Given the description of an element on the screen output the (x, y) to click on. 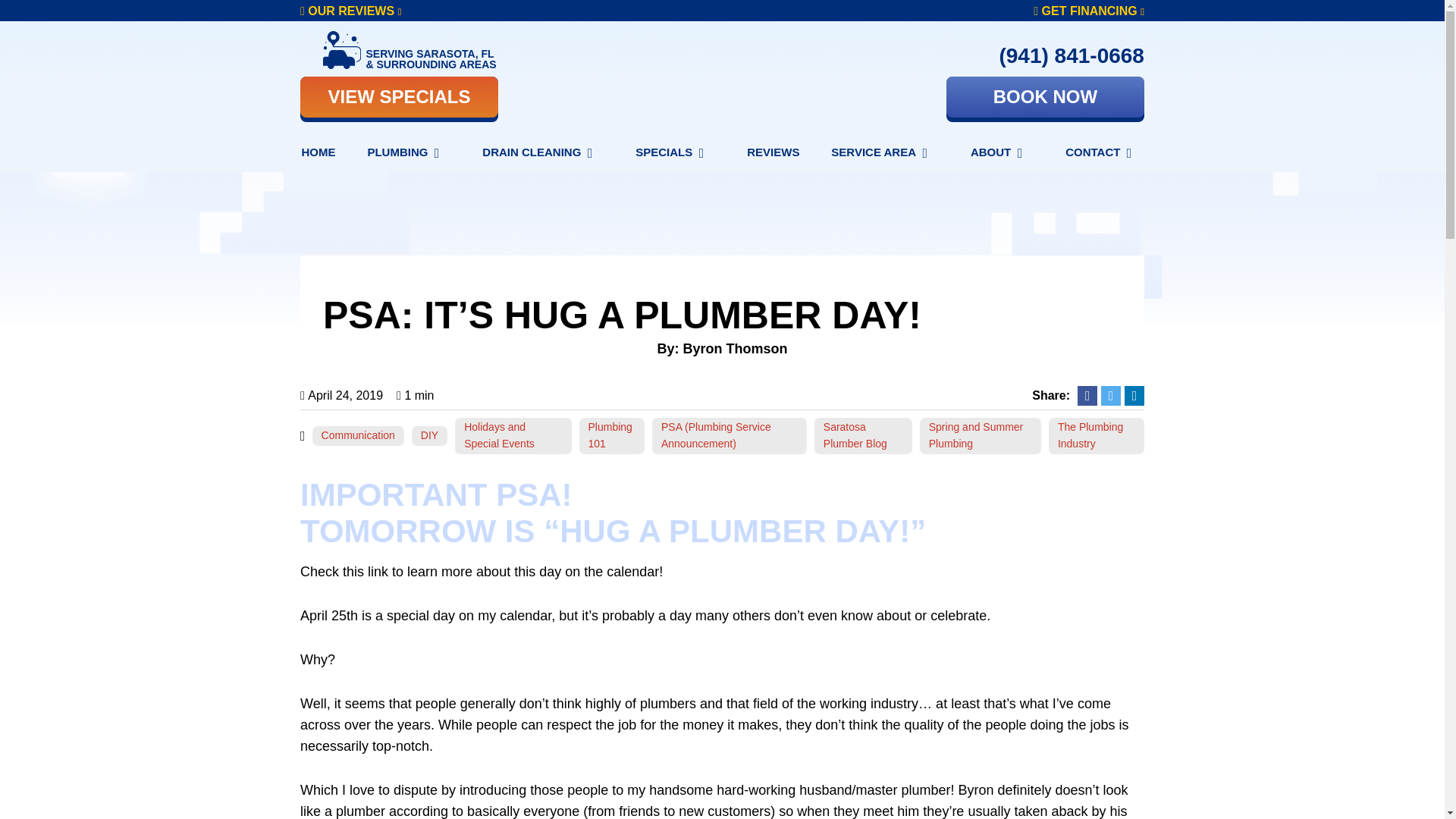
PLUMBING (407, 151)
HOME (318, 151)
Next Level Plumbing (722, 79)
VIEW SPECIALS (398, 96)
OUR REVIEWS (350, 10)
SERVICE AREA (885, 151)
ABOUT (1002, 151)
REVIEWS (772, 151)
BOOK NOW (1045, 96)
GET FINANCING (1088, 10)
